Given the description of an element on the screen output the (x, y) to click on. 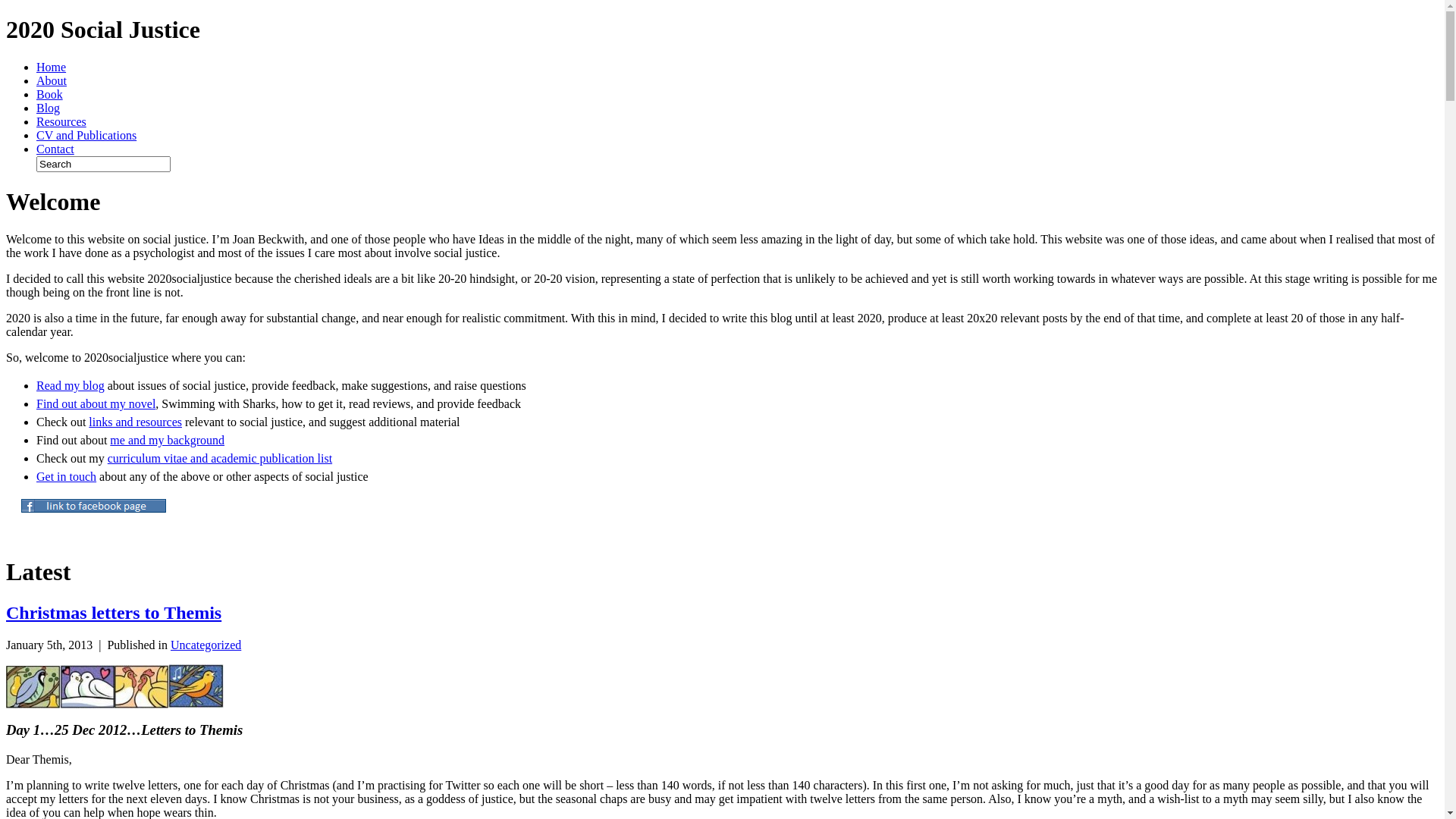
curriculum vitae and academic publication list Element type: text (219, 457)
Blog Element type: text (47, 107)
me and my background Element type: text (166, 439)
Uncategorized Element type: text (205, 644)
3 - french hens Element type: hover (141, 686)
1 - partridge Element type: hover (32, 686)
Christmas letters to Themis Element type: text (113, 612)
About Element type: text (51, 80)
CV and Publications Element type: text (86, 134)
Get in touch Element type: text (66, 476)
Read my blog Element type: text (70, 385)
4 - calling birds Element type: hover (195, 686)
2 - turtle doves Element type: hover (86, 686)
Book Element type: text (49, 93)
Find out about my novel Element type: text (95, 403)
links and resources Element type: text (135, 421)
Contact Element type: text (55, 148)
Resources Element type: text (61, 121)
Home Element type: text (50, 66)
